Given the description of an element on the screen output the (x, y) to click on. 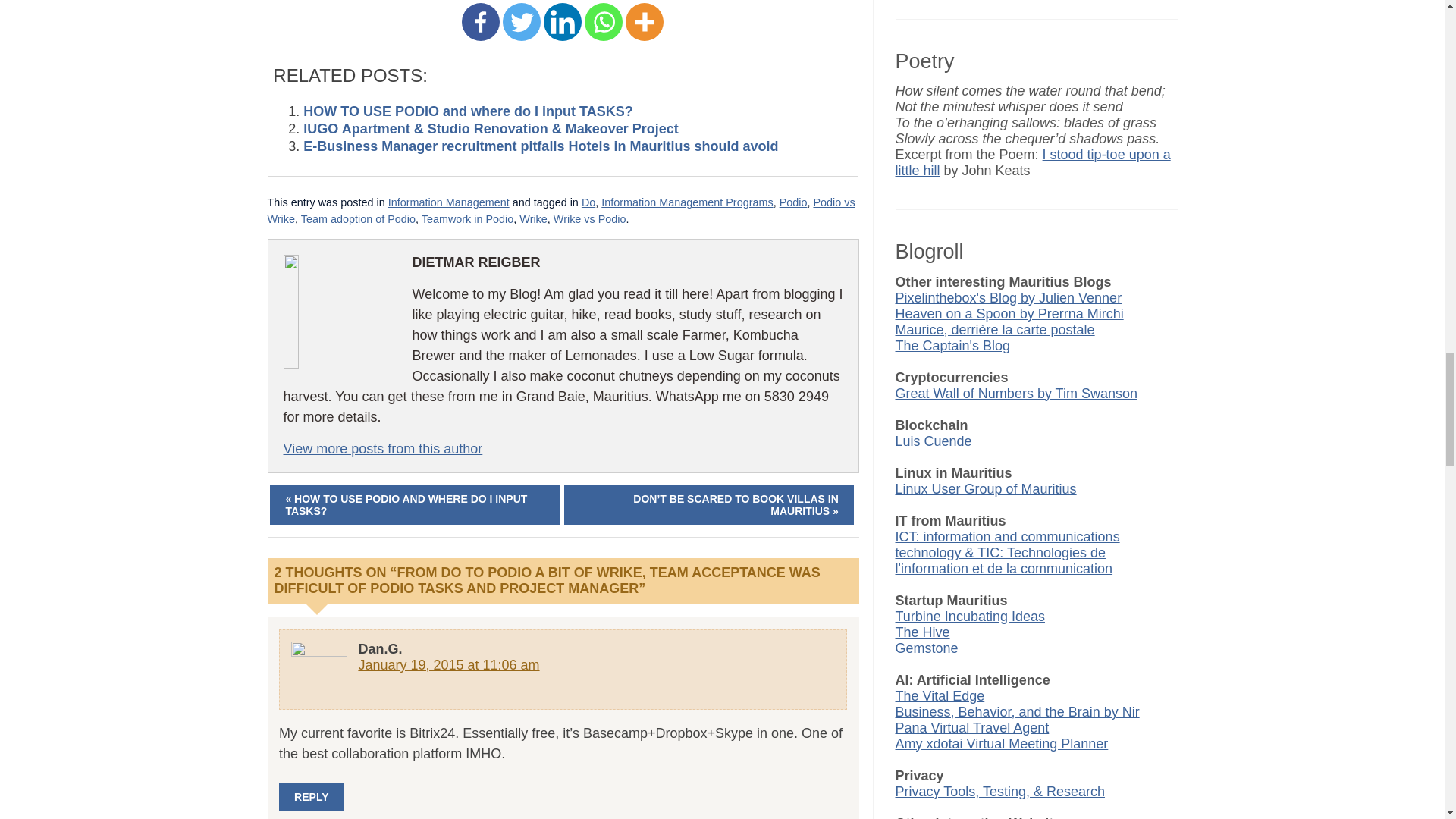
HOW TO USE PODIO and where do I input TASKS? (466, 111)
Linkedin (561, 21)
Twitter (521, 21)
Whatsapp (604, 21)
Facebook (480, 21)
More (644, 21)
